Given the description of an element on the screen output the (x, y) to click on. 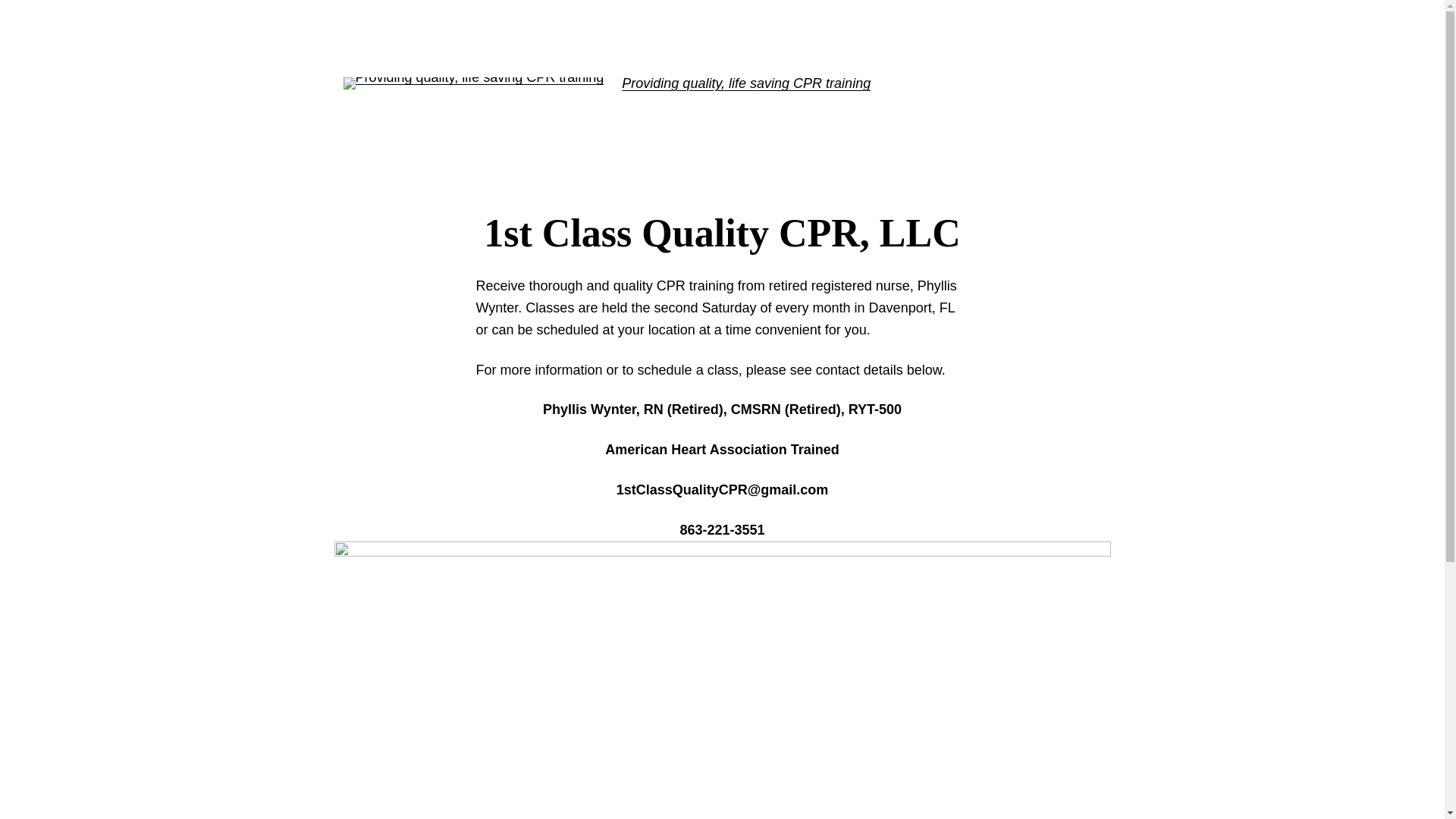
Providing quality, life saving CPR training Element type: text (745, 83)
